Given the description of an element on the screen output the (x, y) to click on. 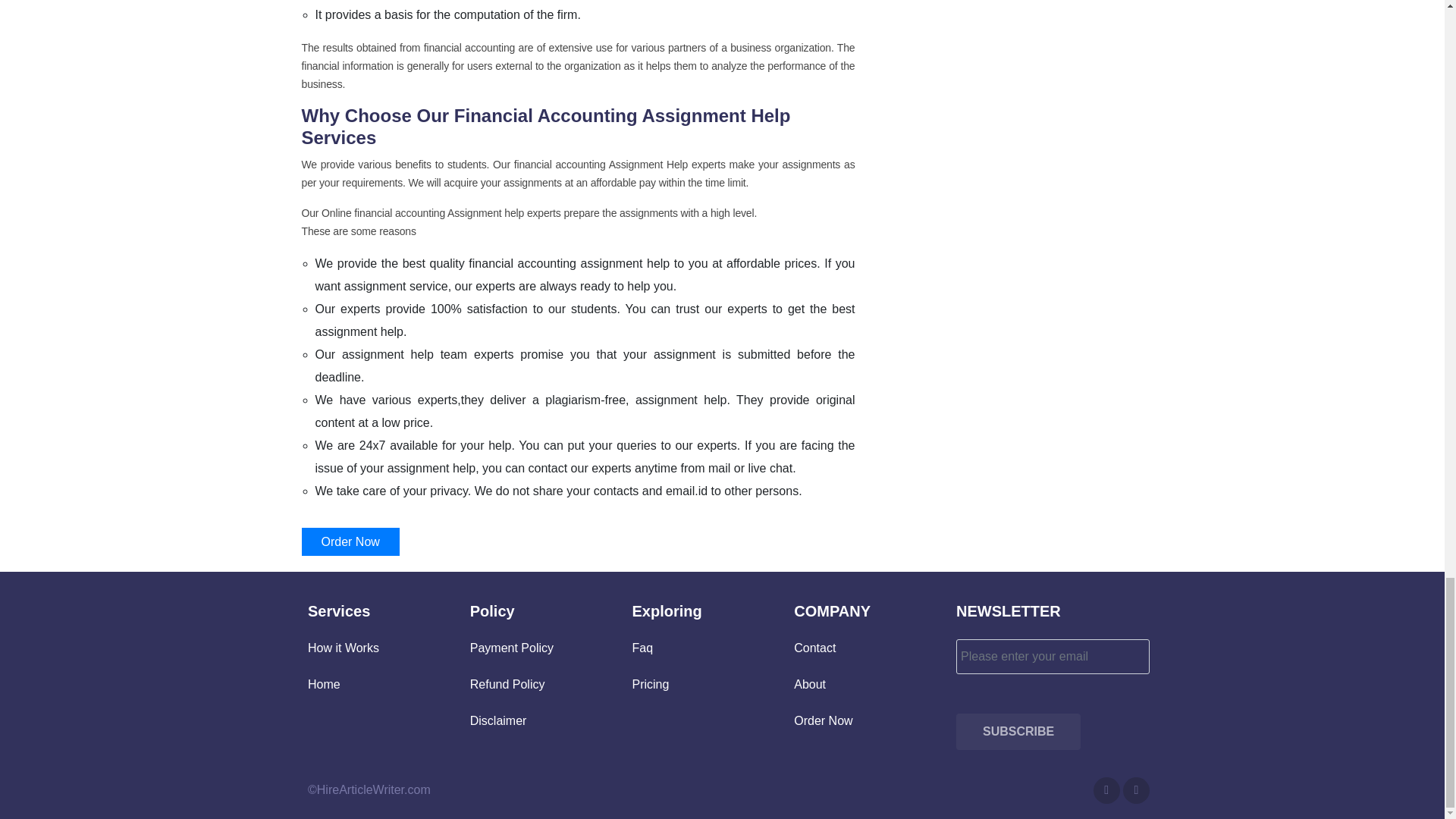
Order Now (822, 720)
Contact (814, 647)
Pricing (650, 684)
How it Works (342, 647)
SUBSCRIBE (1018, 731)
Payment Policy (511, 647)
Refund Policy (507, 684)
Order Now (349, 541)
About (809, 684)
Home (323, 684)
